Given the description of an element on the screen output the (x, y) to click on. 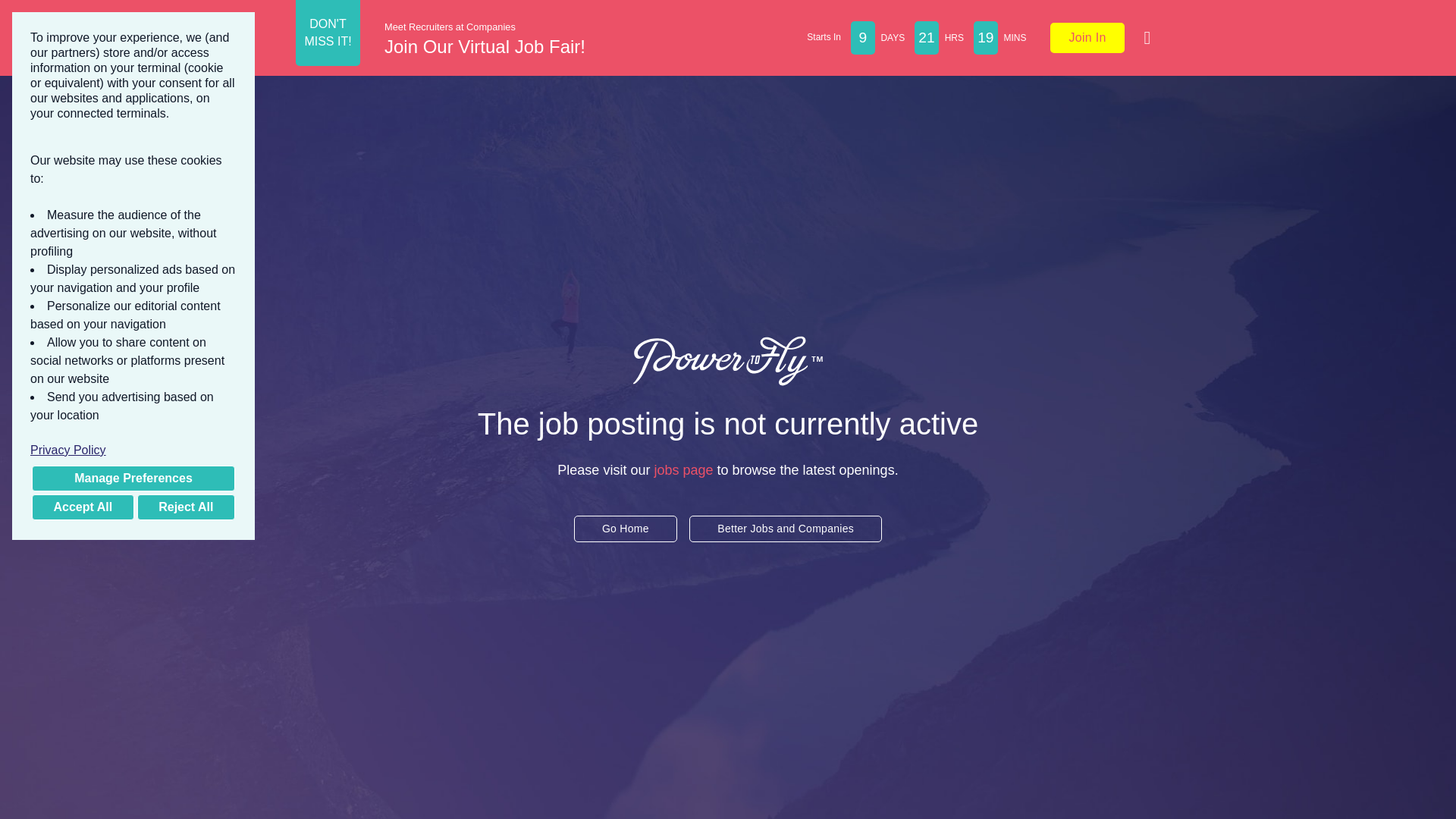
Privacy Policy (132, 450)
Better Jobs and Companies (785, 528)
Go Home (625, 528)
Manage Preferences (133, 478)
jobs page (683, 469)
PowerToFly (727, 360)
Accept All (82, 507)
Reject All (185, 507)
